Given the description of an element on the screen output the (x, y) to click on. 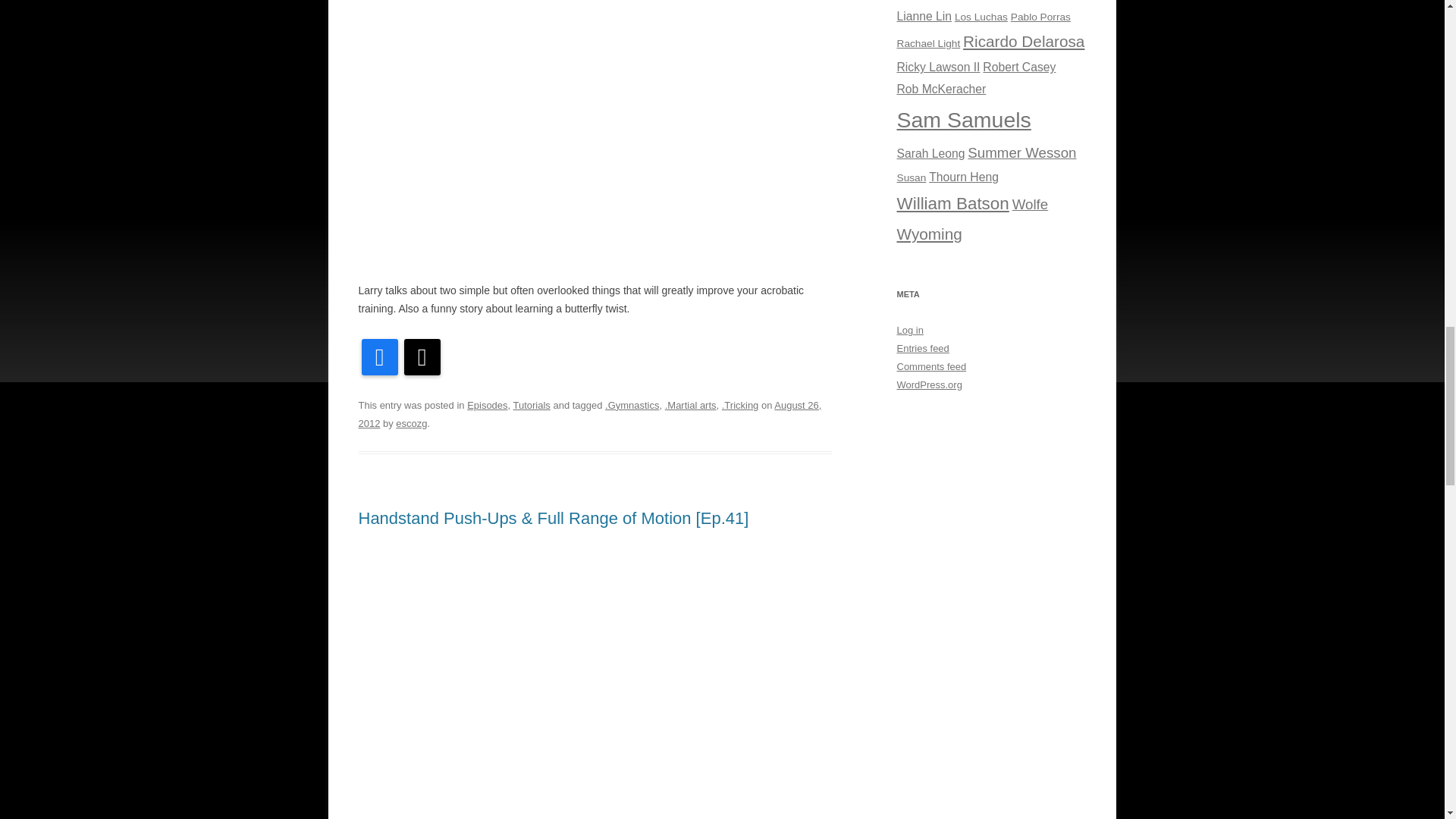
Episodes (486, 405)
August 26, 2012 (589, 414)
Tutorials (531, 405)
escozg (411, 423)
.Tricking (740, 405)
.Martial arts (690, 405)
.Gymnastics (632, 405)
